Given the description of an element on the screen output the (x, y) to click on. 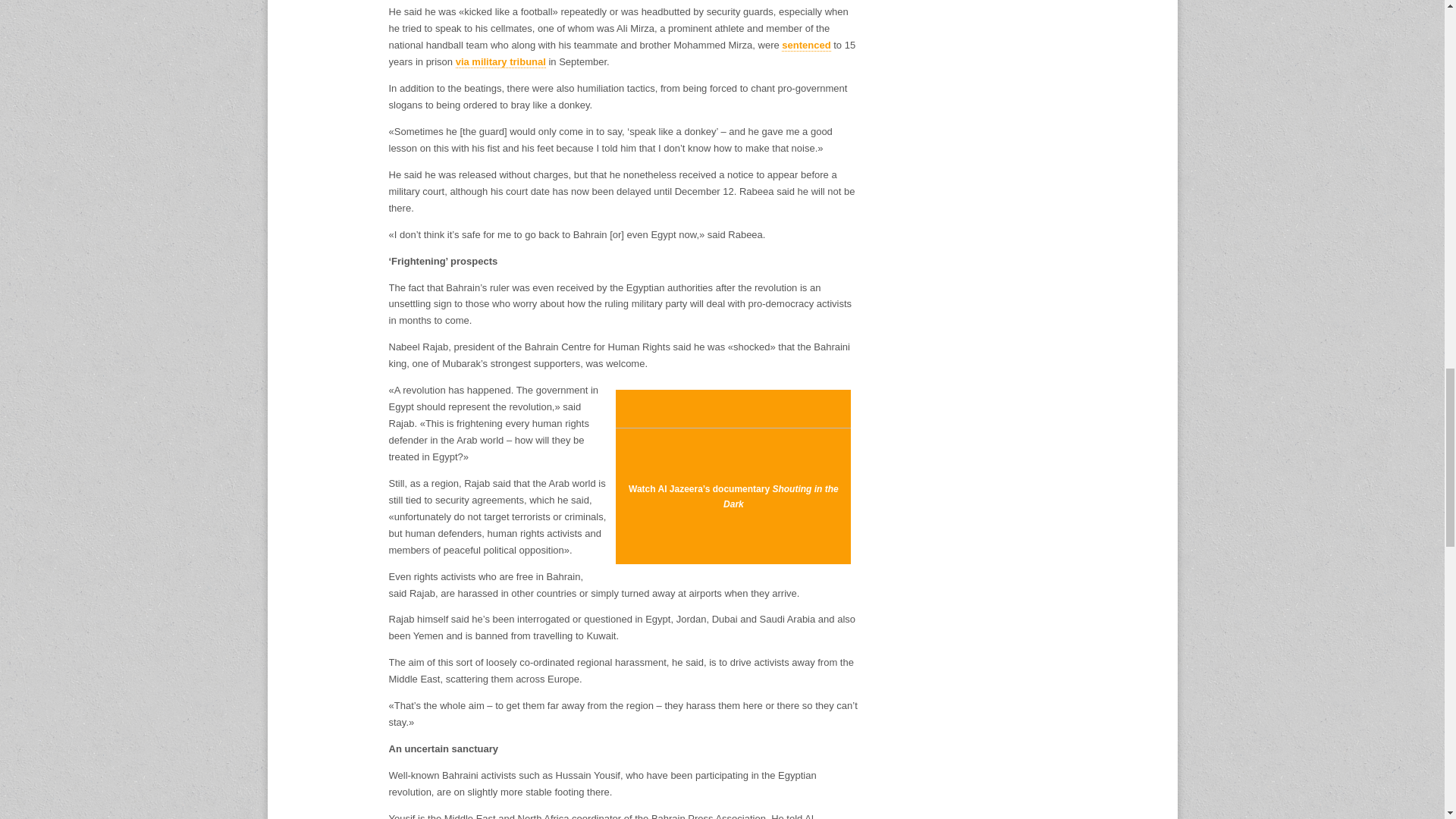
via military tribunal (500, 61)
sentenced (805, 45)
